Given the description of an element on the screen output the (x, y) to click on. 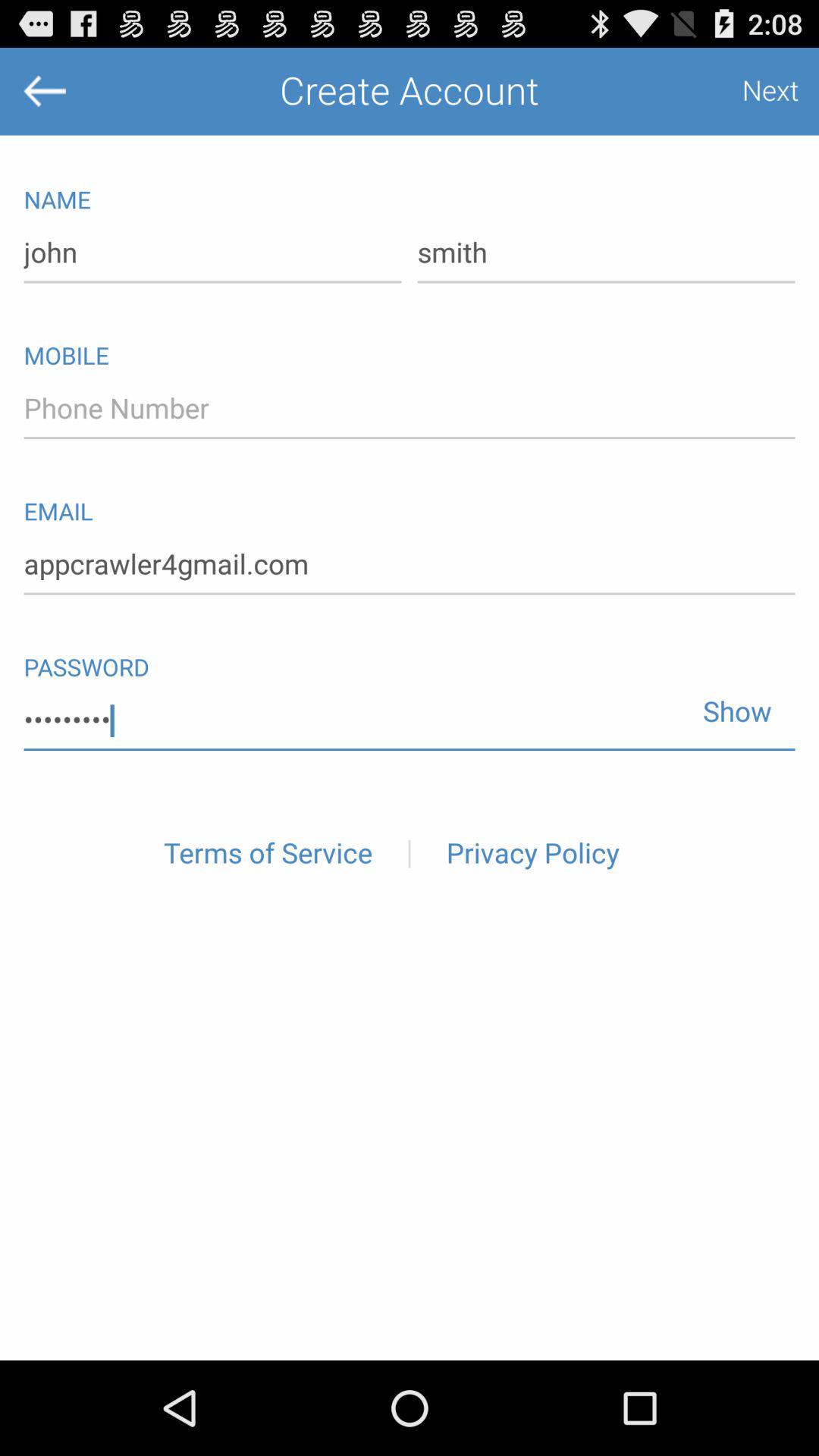
tap the item next to the smith (212, 253)
